Given the description of an element on the screen output the (x, y) to click on. 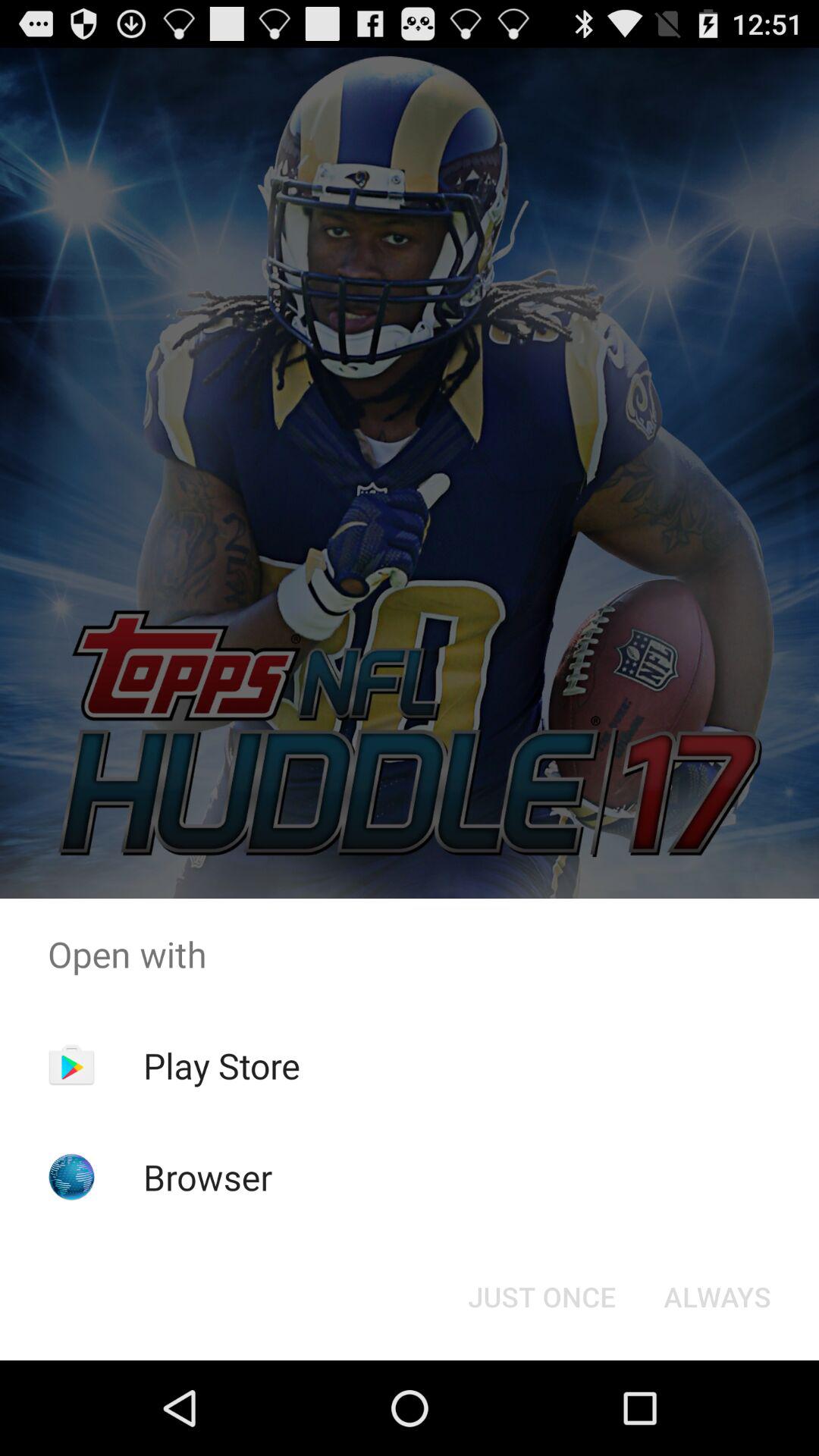
click the icon below the open with app (541, 1296)
